Given the description of an element on the screen output the (x, y) to click on. 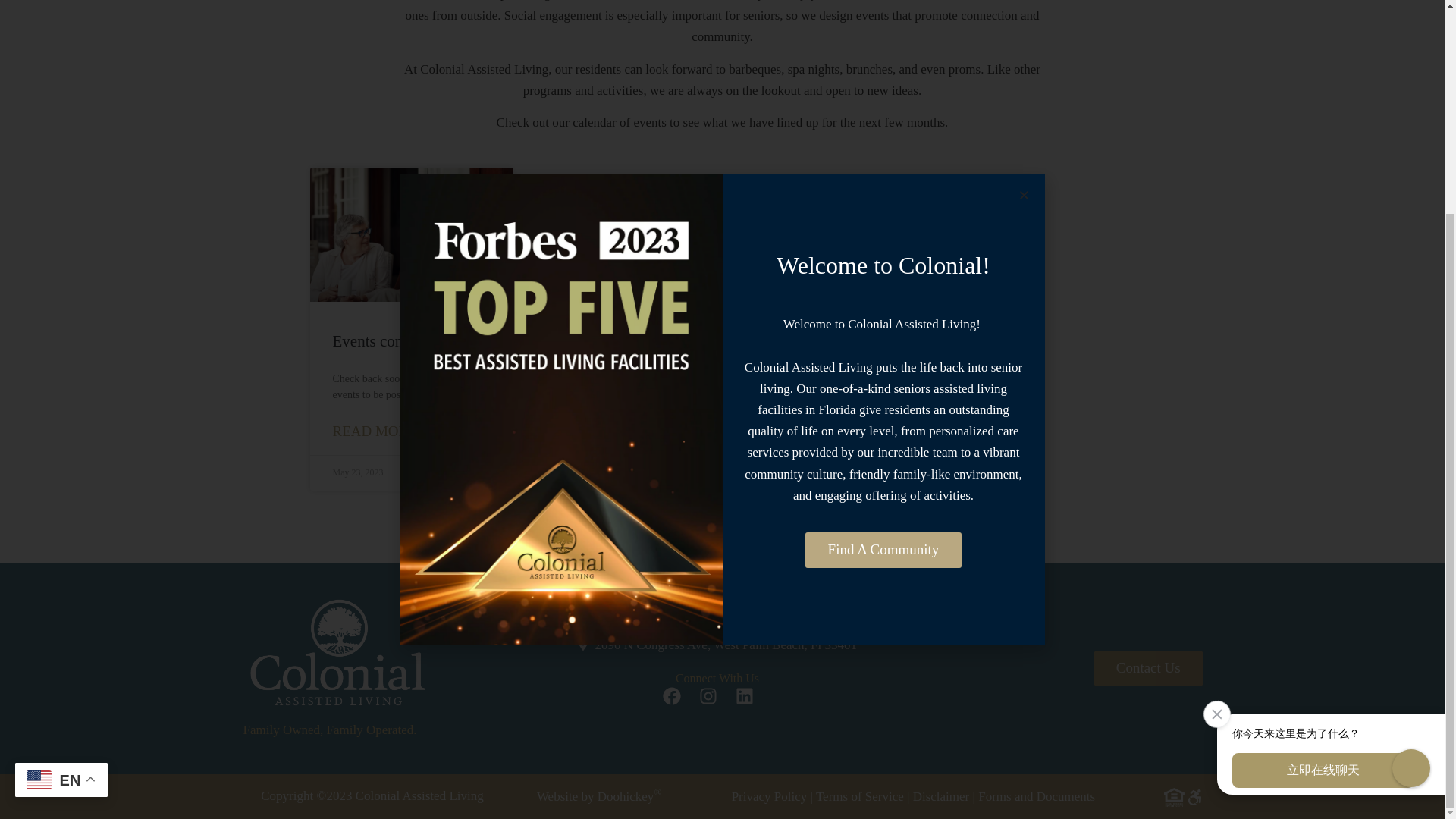
Close (1211, 429)
